Given the description of an element on the screen output the (x, y) to click on. 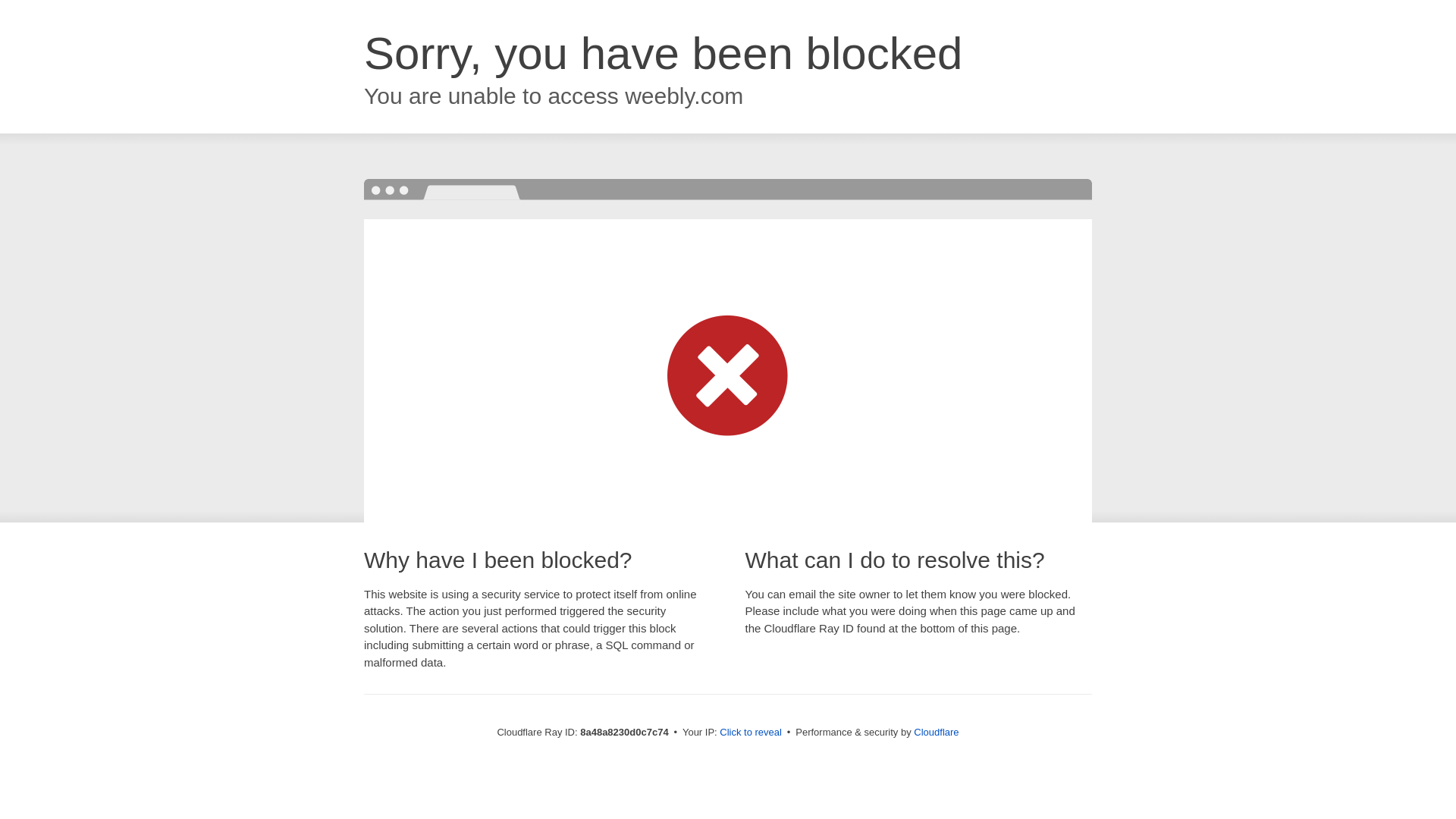
Cloudflare (936, 731)
Click to reveal (750, 732)
